Given the description of an element on the screen output the (x, y) to click on. 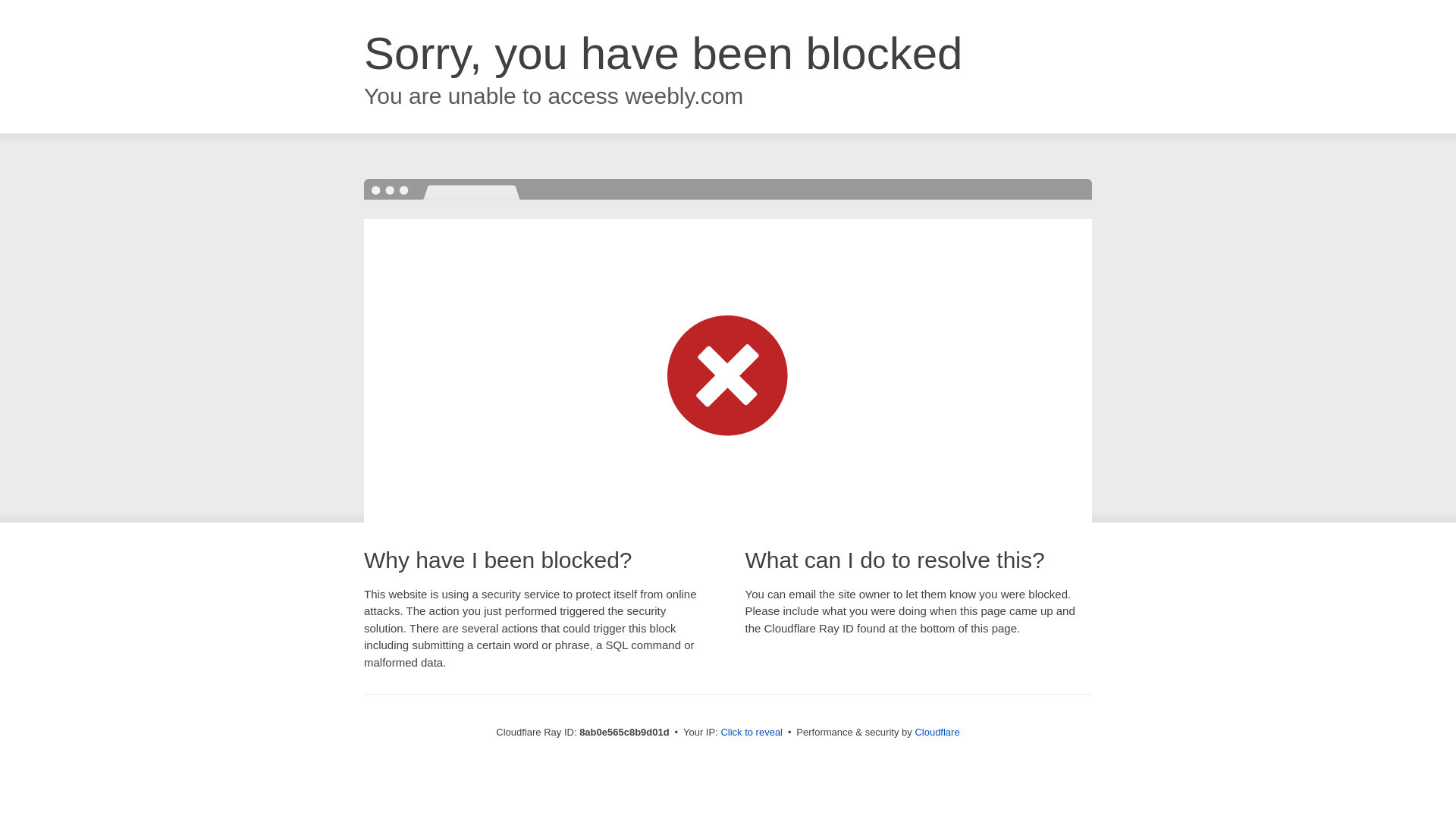
Click to reveal (751, 732)
Cloudflare (936, 731)
